Given the description of an element on the screen output the (x, y) to click on. 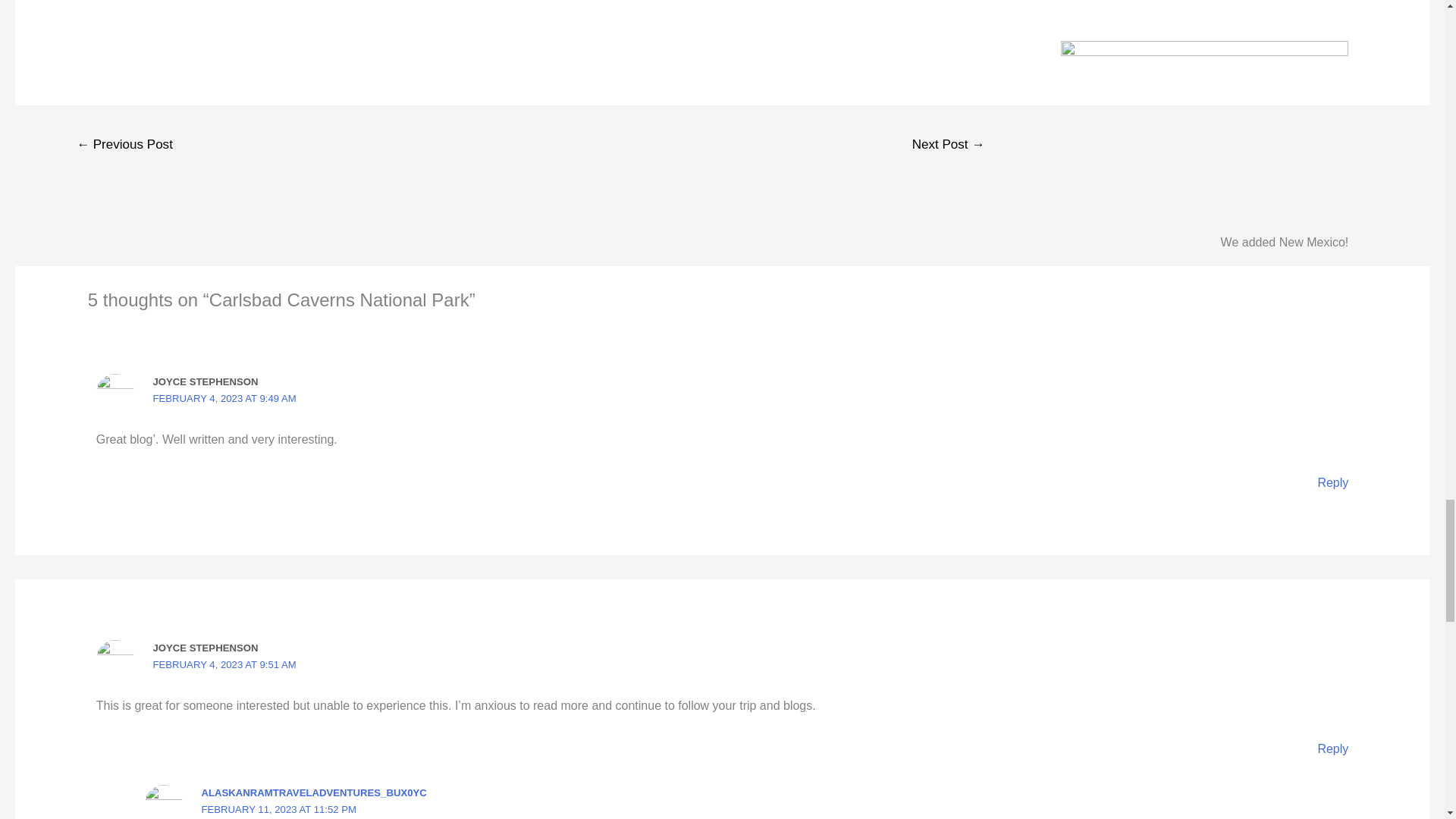
FEBRUARY 4, 2023 AT 9:51 AM (224, 664)
Reply (1332, 481)
FEBRUARY 4, 2023 AT 9:49 AM (224, 398)
FEBRUARY 11, 2023 AT 11:52 PM (279, 808)
Reply (1332, 748)
